Given the description of an element on the screen output the (x, y) to click on. 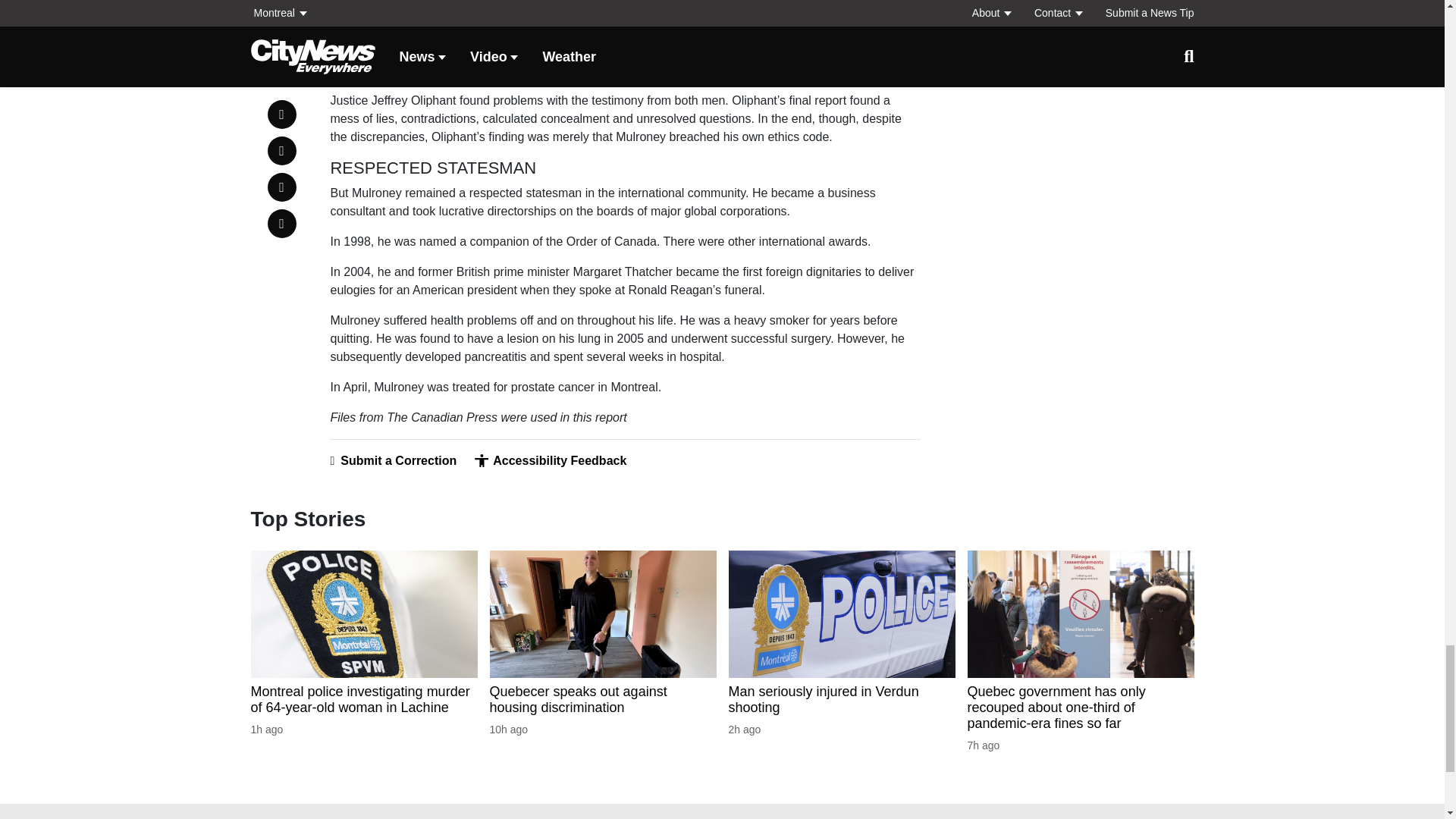
Accessibility Feedback (550, 460)
Submit a Correction (393, 460)
